Given the description of an element on the screen output the (x, y) to click on. 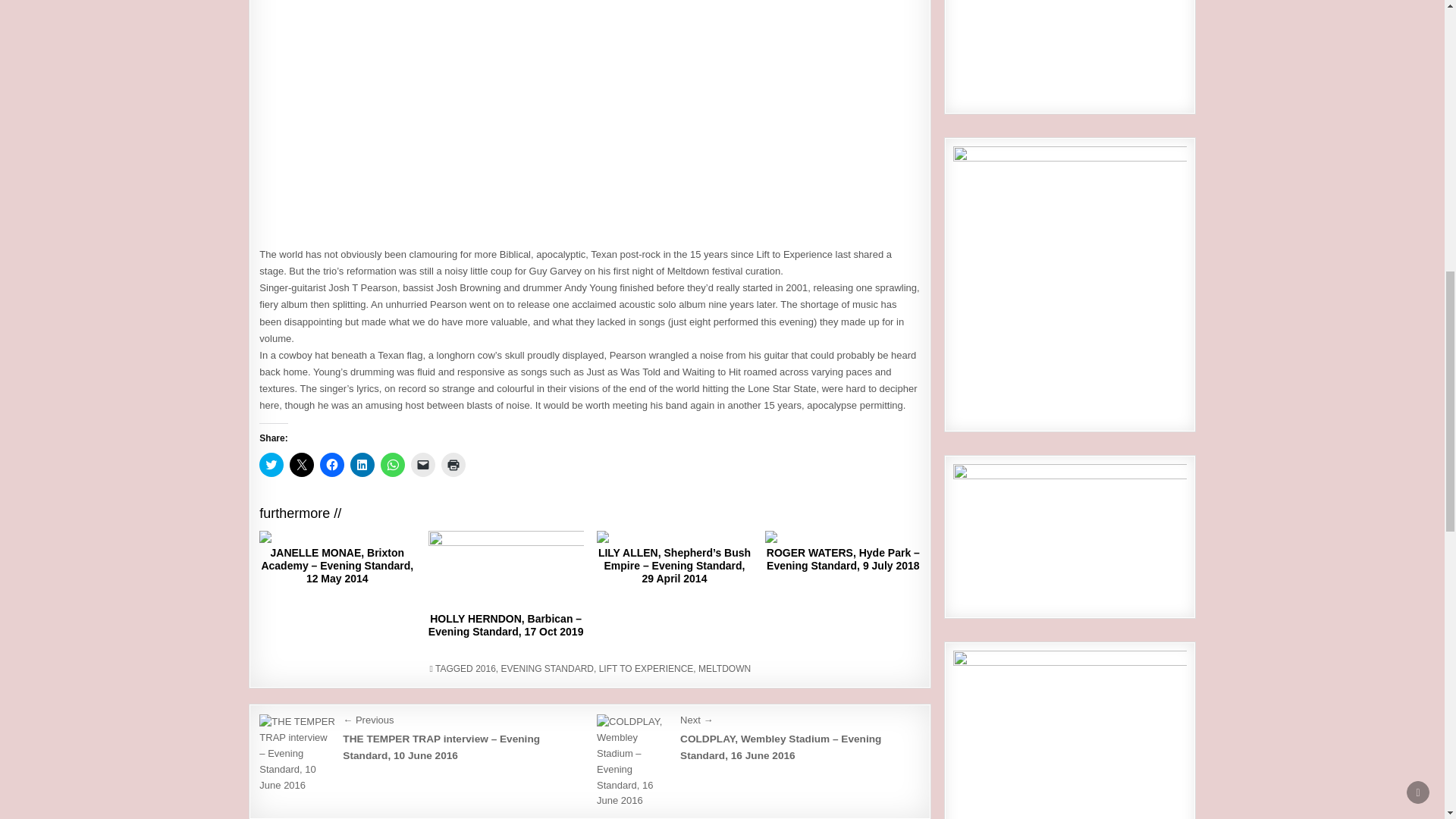
Click to email a link to a friend (422, 464)
Click to share on WhatsApp (392, 464)
Click to print (453, 464)
Click to share on Facebook (331, 464)
Click to share on LinkedIn (362, 464)
Click to share on Twitter (271, 464)
Click to share on X (301, 464)
